Given the description of an element on the screen output the (x, y) to click on. 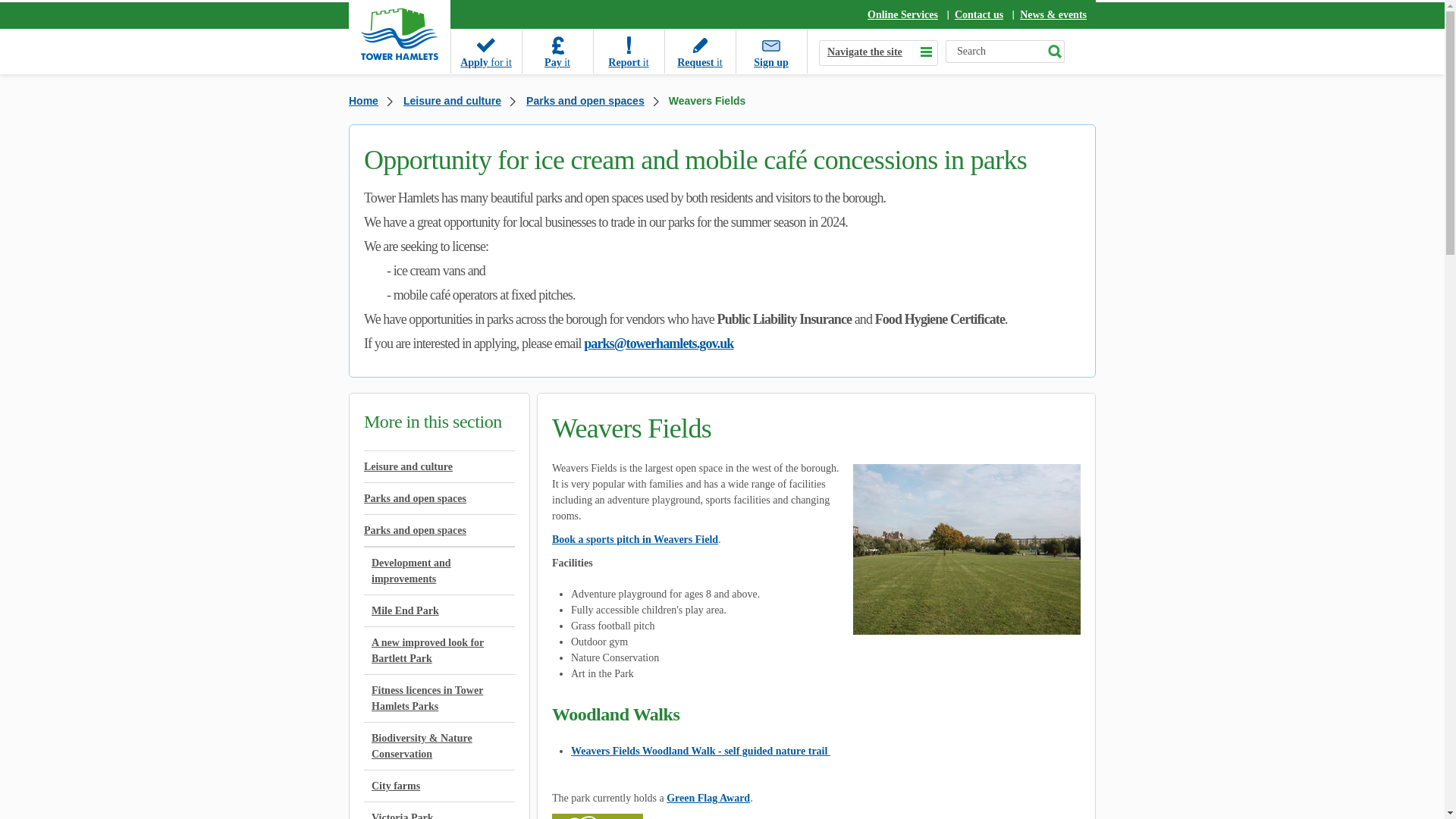
Contact us (979, 14)
Pay it (556, 50)
Search (1053, 51)
Development and improvements (439, 570)
Leisure and culture (439, 466)
Apply for it (485, 50)
Search (993, 51)
Pay it (556, 50)
Sign up to our newsletter (770, 50)
Report it (627, 50)
